Given the description of an element on the screen output the (x, y) to click on. 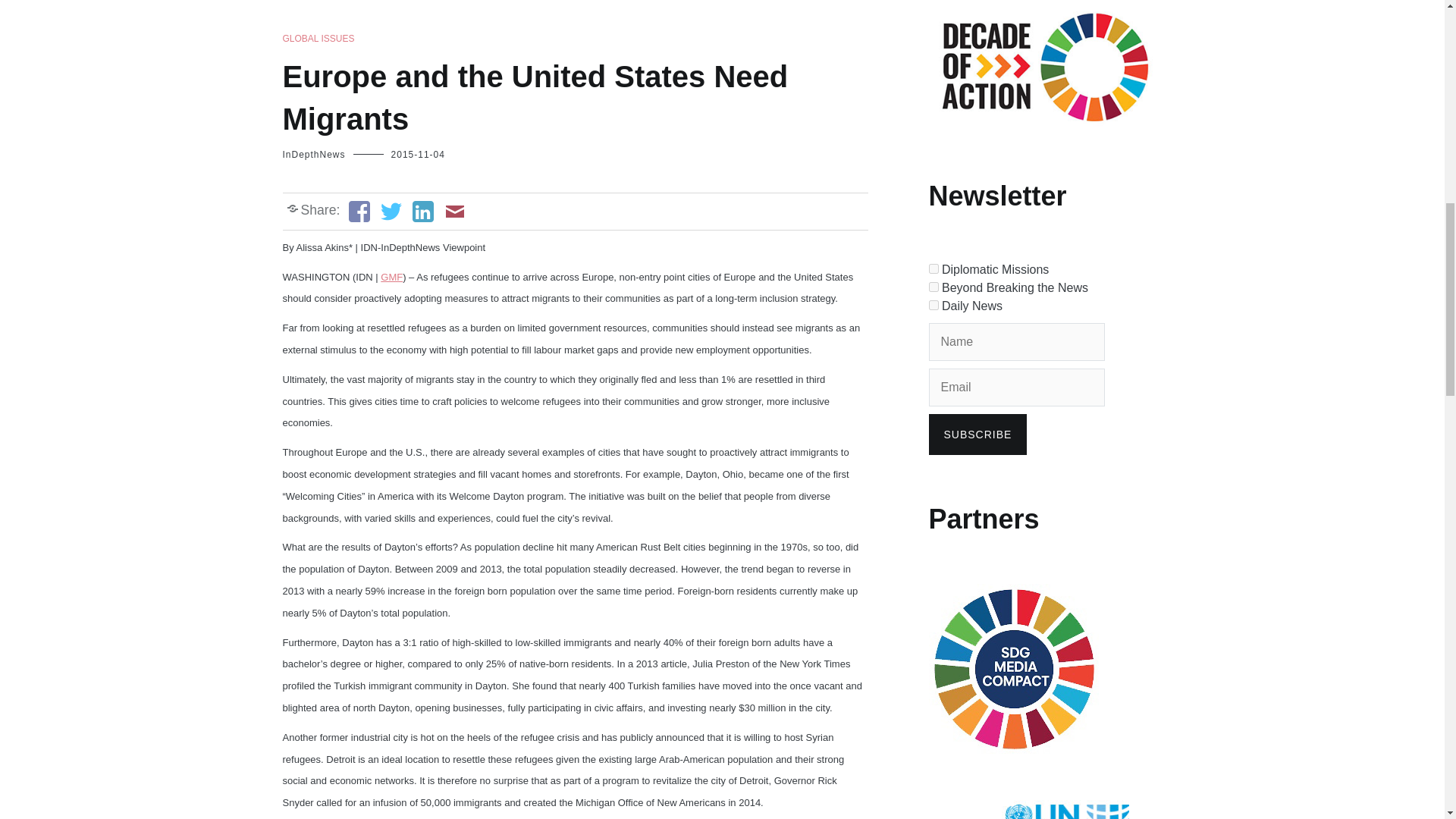
10 (932, 305)
8 (932, 268)
9 (932, 286)
Subscribe (977, 434)
